Given the description of an element on the screen output the (x, y) to click on. 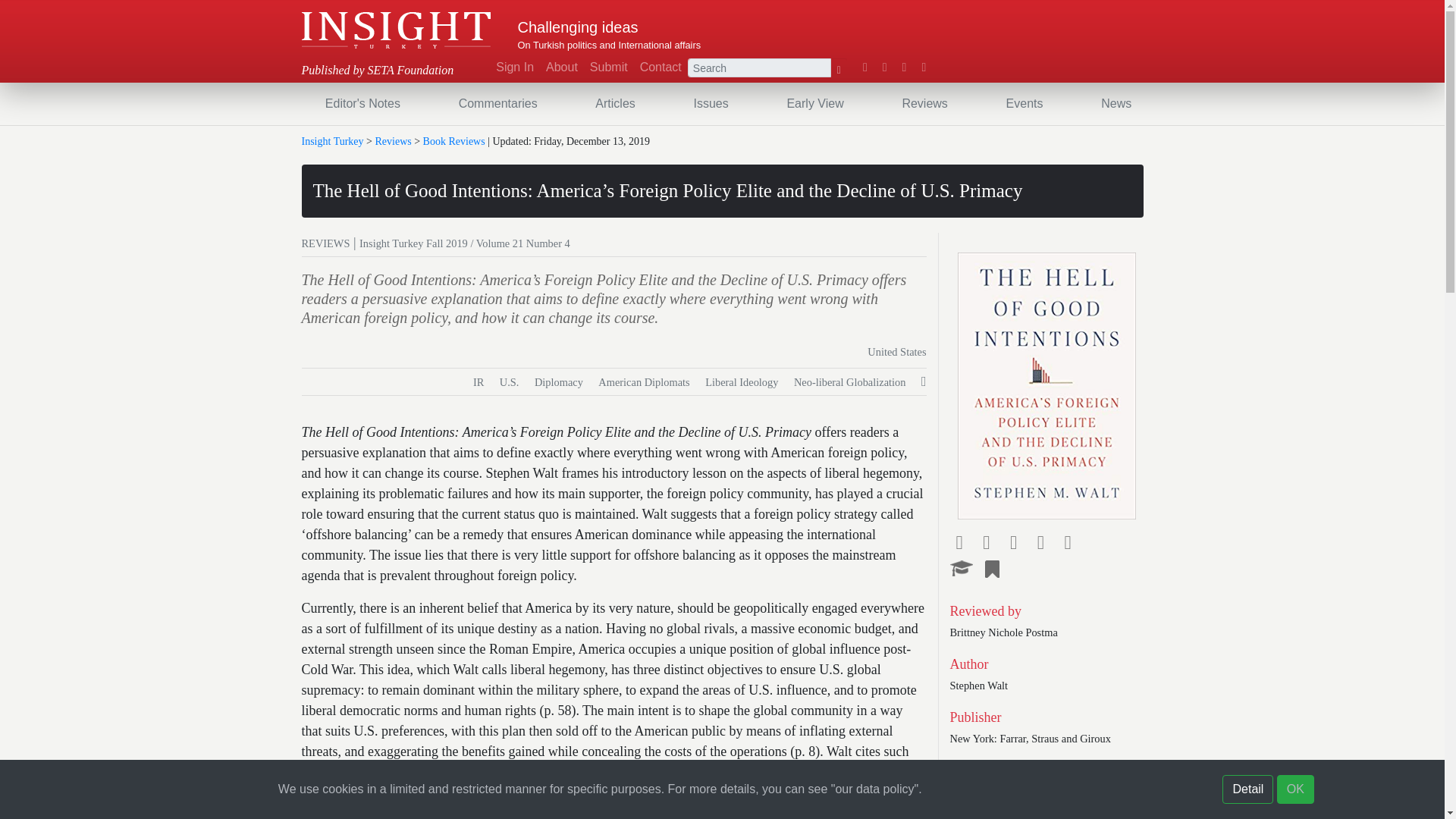
About (561, 67)
Submit (608, 67)
Commentaries (497, 103)
Sign In (514, 67)
About (561, 67)
Insight Turkey (396, 30)
Contact (660, 67)
Articles (614, 103)
Reviews (924, 103)
Early View (814, 103)
Submit (608, 67)
Editor's Notes (362, 103)
Issues (710, 103)
Insight Turkey (396, 29)
